Given the description of an element on the screen output the (x, y) to click on. 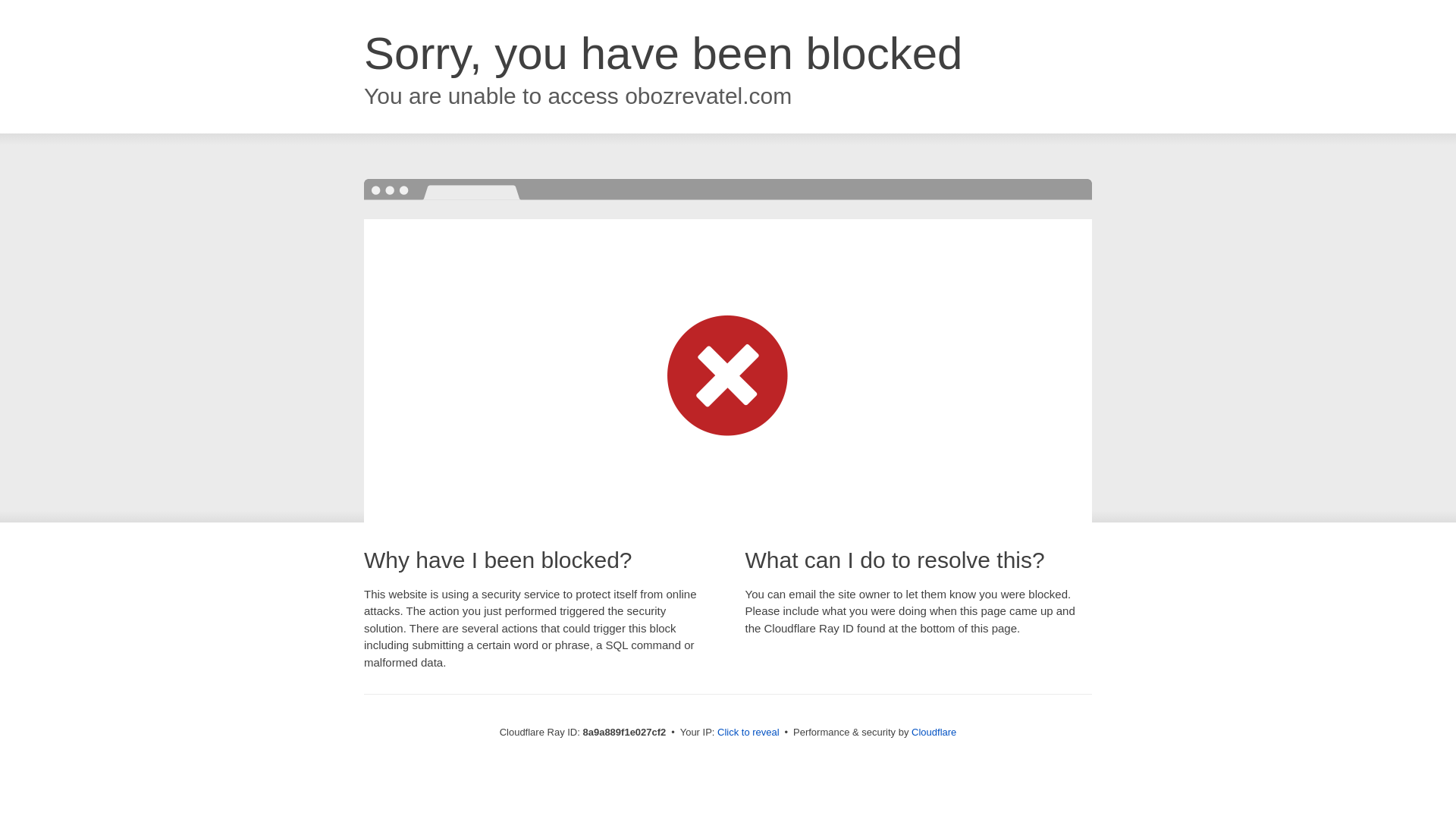
Click to reveal (747, 732)
Cloudflare (933, 731)
